Given the description of an element on the screen output the (x, y) to click on. 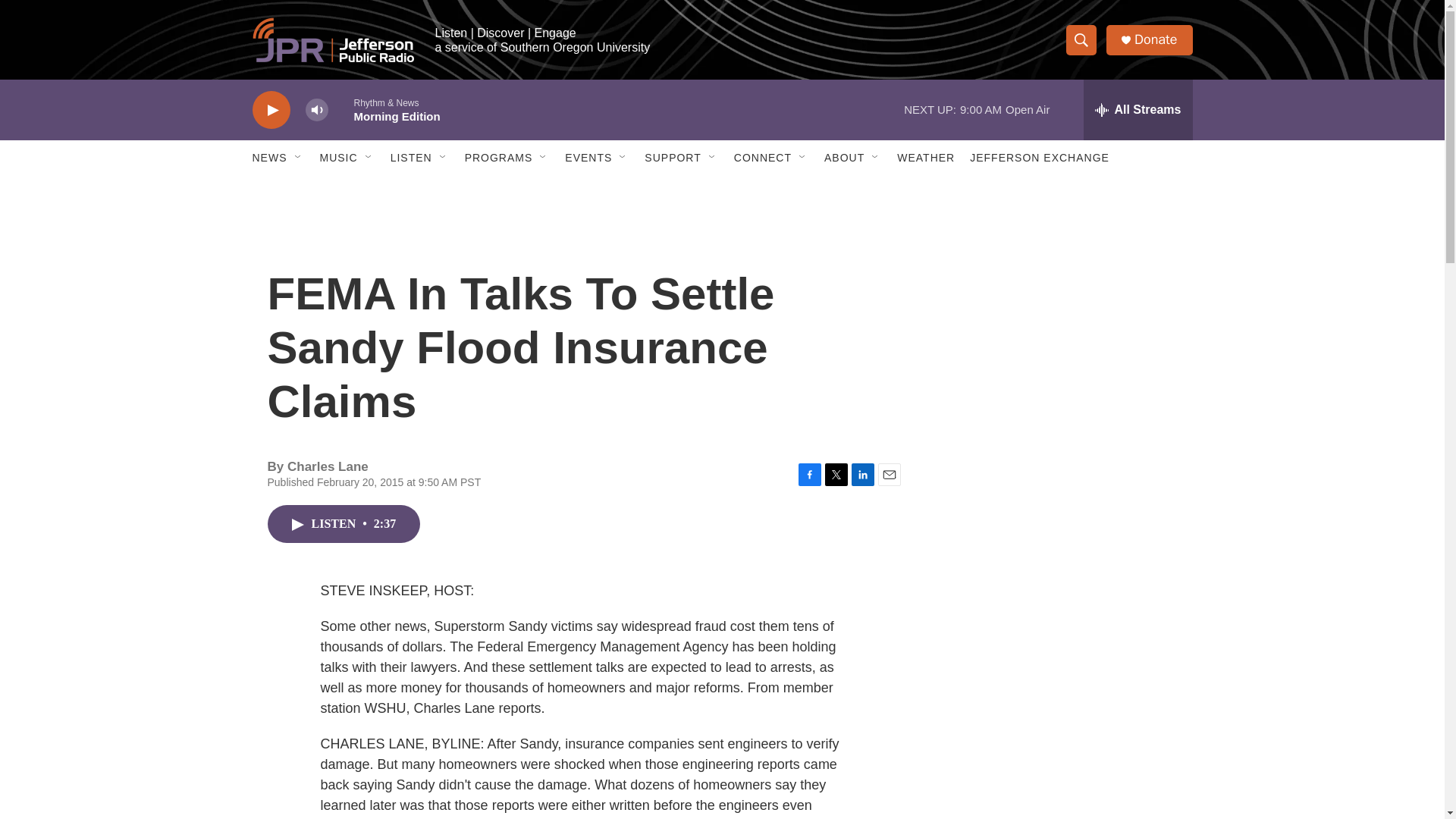
3rd party ad content (1062, 740)
3rd party ad content (1062, 316)
3rd party ad content (1062, 536)
